Given the description of an element on the screen output the (x, y) to click on. 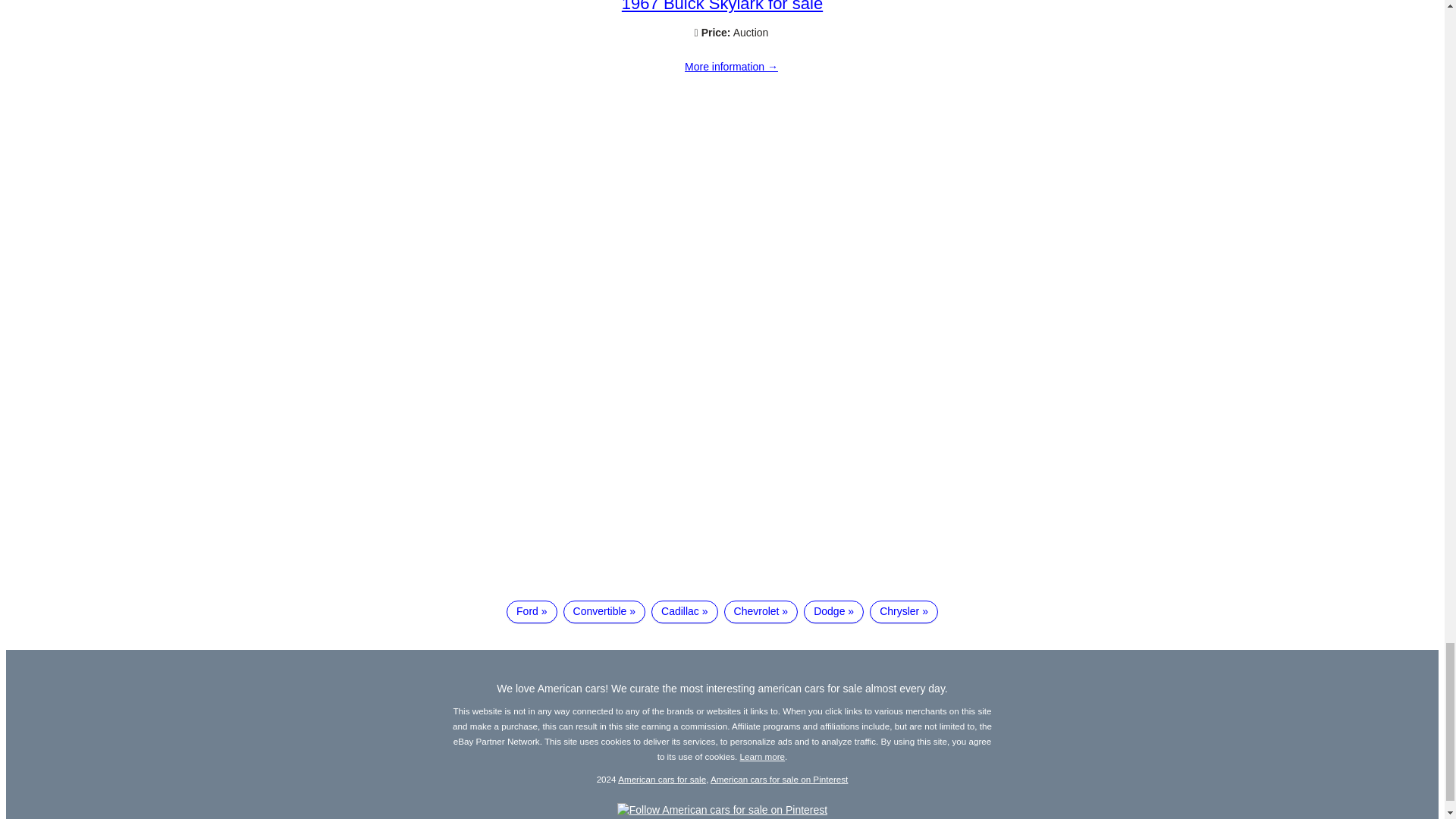
Ford (531, 611)
Convertible (604, 611)
Learn more (762, 756)
1967 Buick Skylark for sale (731, 67)
1967 Buick Skylark for sale (721, 6)
Follow American cars for sale on Pinterest (722, 809)
Dodge (833, 611)
American cars for sale on Pinterest (778, 778)
Cadillac (683, 611)
American cars for sale (661, 778)
Chrysler (903, 611)
Chevrolet (760, 611)
